Given the description of an element on the screen output the (x, y) to click on. 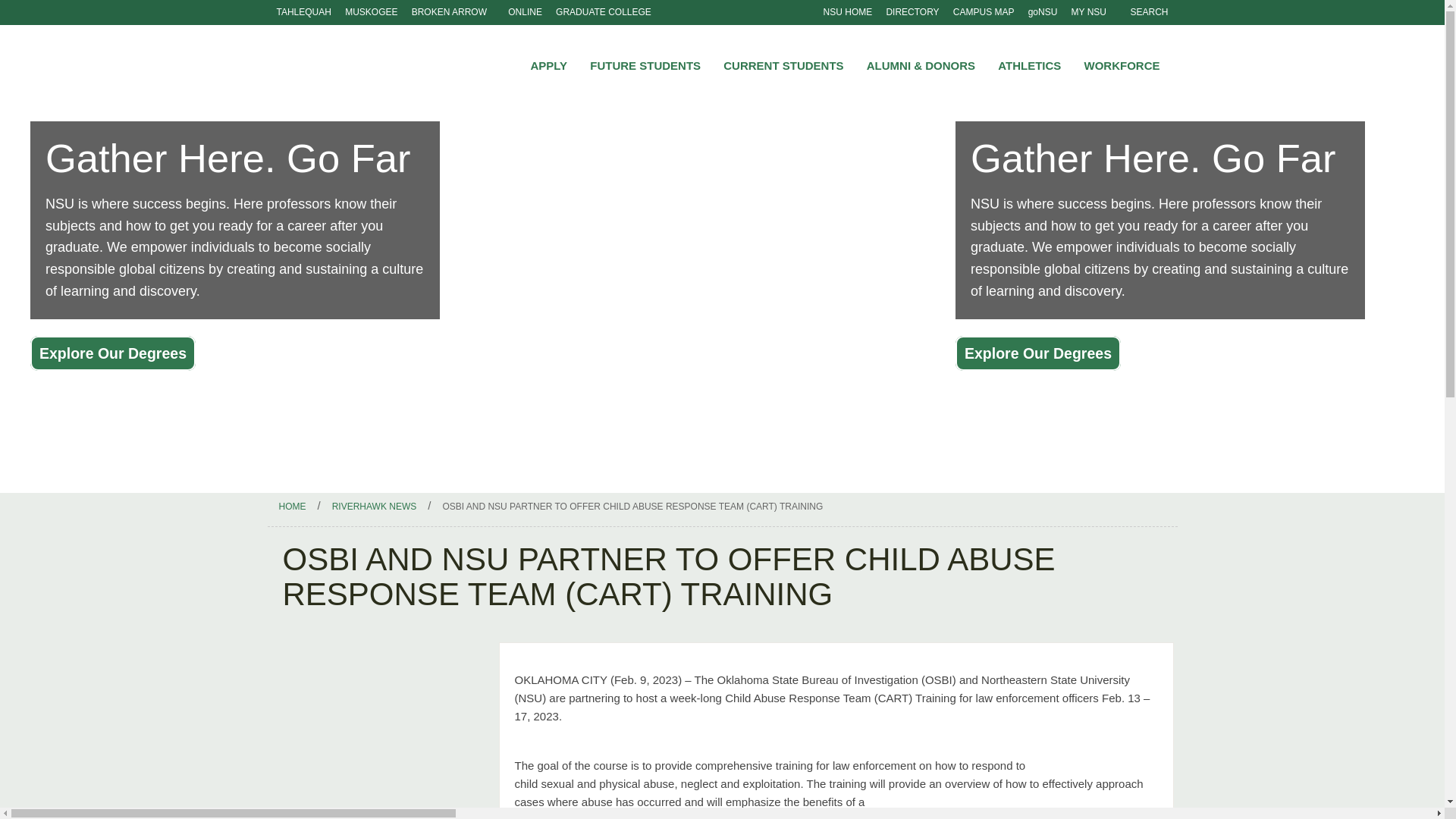
SEARCH (1144, 12)
ONLINE (524, 12)
DIRECTORY (911, 12)
CAMPUS MAP (983, 12)
Directory (911, 12)
Graduate College (603, 12)
Muskogee (371, 12)
goNSU (1042, 12)
My NSU (1088, 12)
MY NSU (1088, 12)
